Given the description of an element on the screen output the (x, y) to click on. 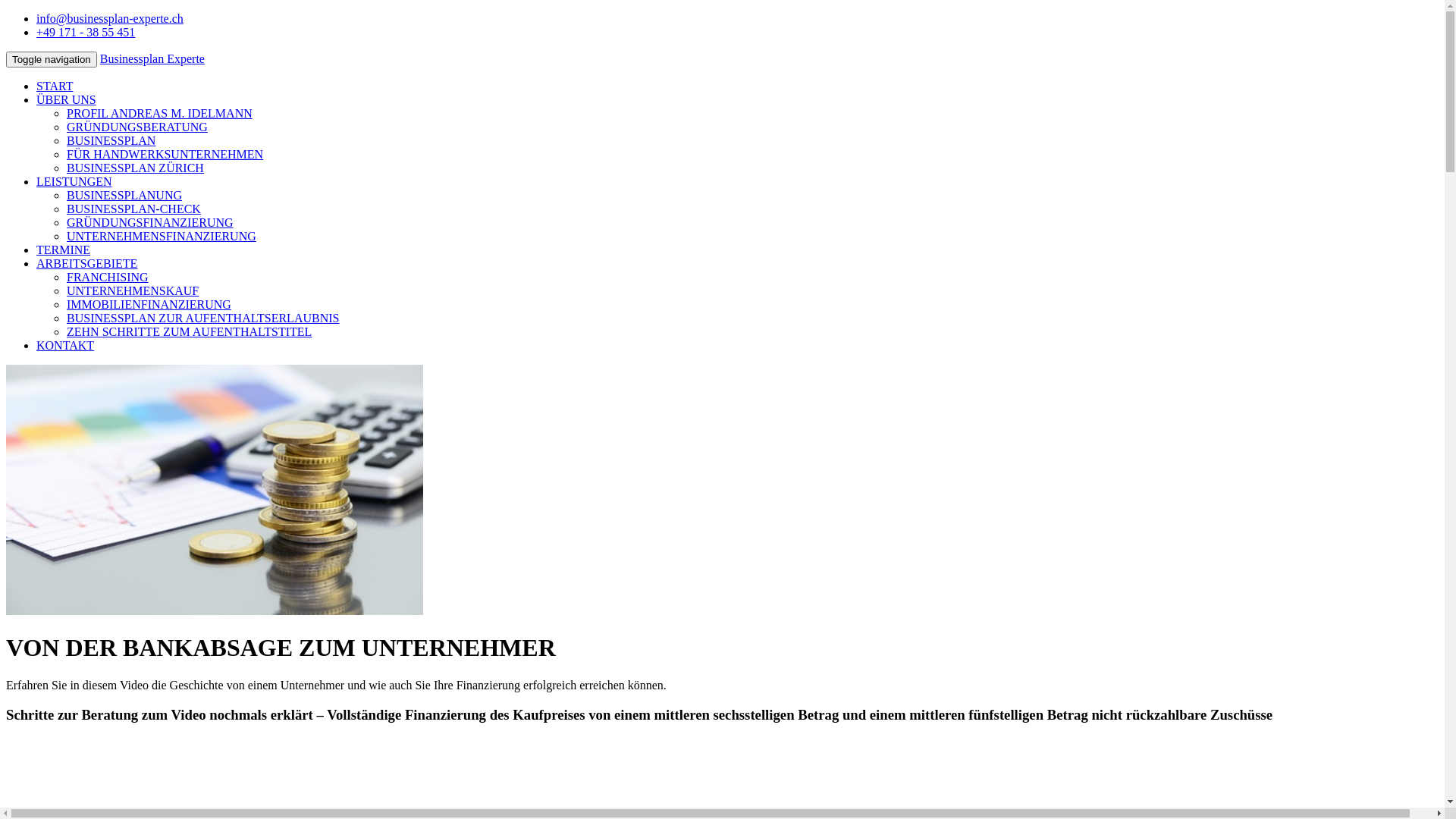
BUSINESSPLANUNG Element type: text (124, 194)
KONTAKT Element type: text (65, 344)
Toggle navigation Element type: text (51, 59)
ARBEITSGEBIETE Element type: text (86, 263)
BUSINESSPLAN ZUR AUFENTHALTSERLAUBNIS Element type: text (202, 317)
FRANCHISING Element type: text (107, 276)
UNTERNEHMENSFINANZIERUNG Element type: text (161, 235)
BUSINESSPLAN Element type: text (110, 140)
TERMINE Element type: text (63, 249)
info@businessplan-experte.ch Element type: text (109, 18)
LEISTUNGEN Element type: text (74, 181)
ZEHN SCHRITTE ZUM AUFENTHALTSTITEL Element type: text (188, 331)
UNTERNEHMENSKAUF Element type: text (132, 290)
IMMOBILIENFINANZIERUNG Element type: text (148, 304)
+49 171 - 38 55 451 Element type: text (85, 31)
BUSINESSPLAN-CHECK Element type: text (133, 208)
PROFIL ANDREAS M. IDELMANN Element type: text (159, 112)
START Element type: text (54, 85)
Businessplan Experte Element type: text (152, 58)
